Given the description of an element on the screen output the (x, y) to click on. 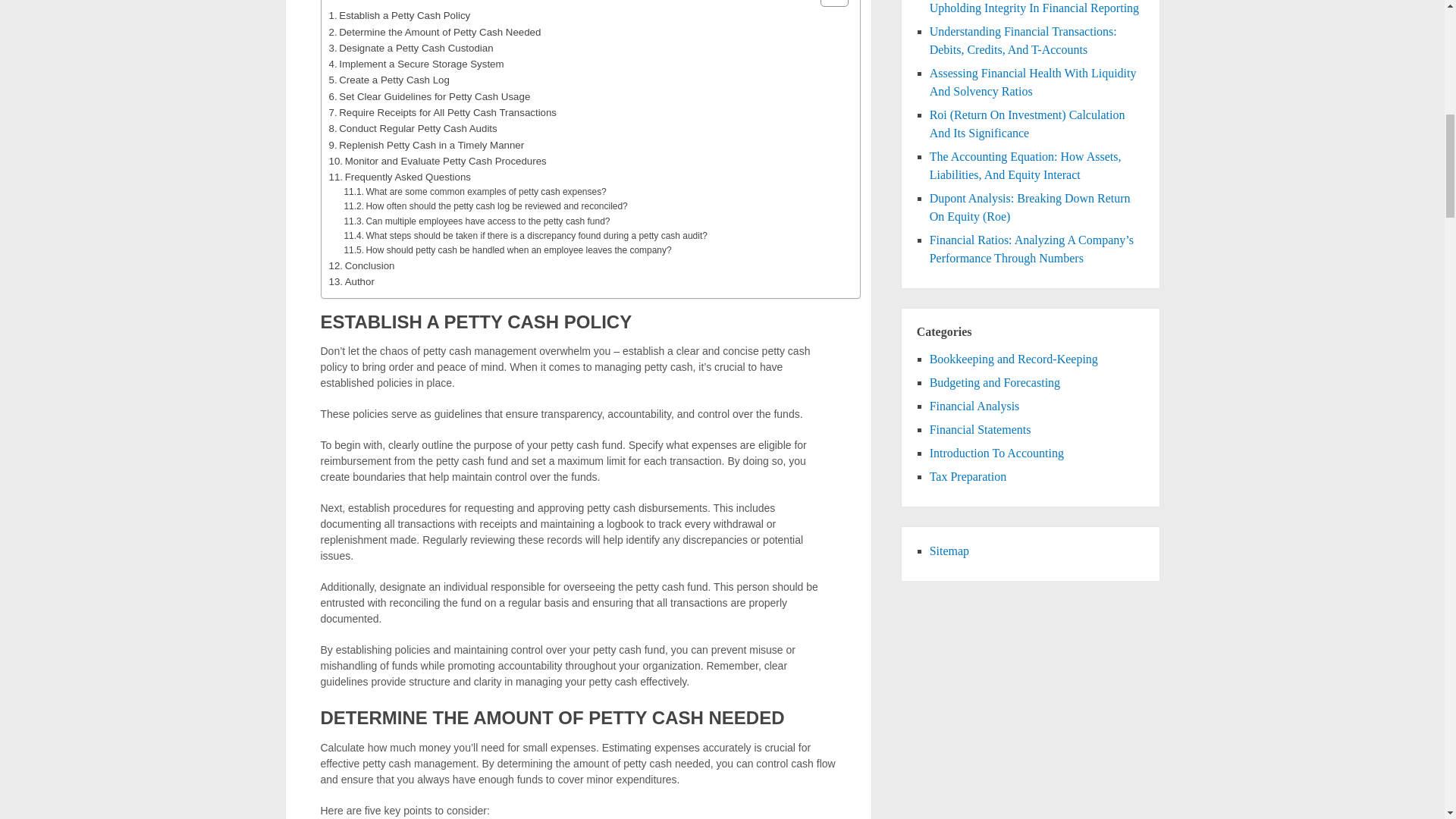
Frequently Asked Questions (399, 176)
Frequently Asked Questions (399, 176)
Conduct Regular Petty Cash Audits (413, 128)
Author (351, 281)
Require Receipts for All Petty Cash Transactions (443, 112)
Designate a Petty Cash Custodian (411, 48)
What are some common examples of petty cash expenses? (474, 192)
Establish a Petty Cash Policy (399, 15)
Can multiple employees have access to the petty cash fund? (476, 221)
Implement a Secure Storage System (416, 64)
Conduct Regular Petty Cash Audits (413, 128)
Determine the Amount of Petty Cash Needed (435, 32)
Create a Petty Cash Log (389, 79)
Replenish Petty Cash in a Timely Manner (426, 144)
